Given the description of an element on the screen output the (x, y) to click on. 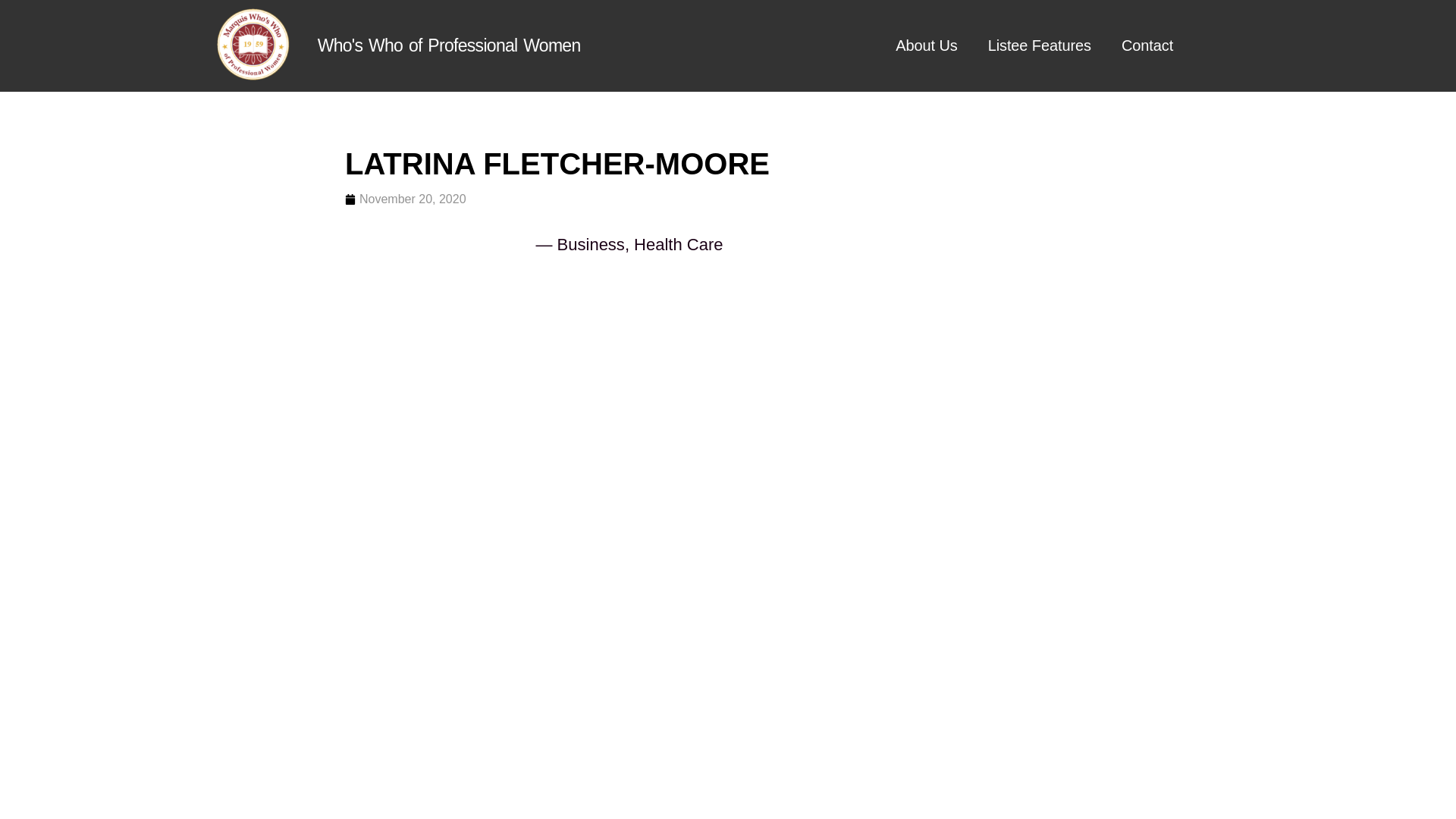
Business (590, 244)
Health Care (677, 244)
November 20, 2020 (405, 199)
Contact (1147, 45)
Who's Who of Professional Women (448, 45)
Listee Features (1039, 45)
About Us (926, 45)
